Given the description of an element on the screen output the (x, y) to click on. 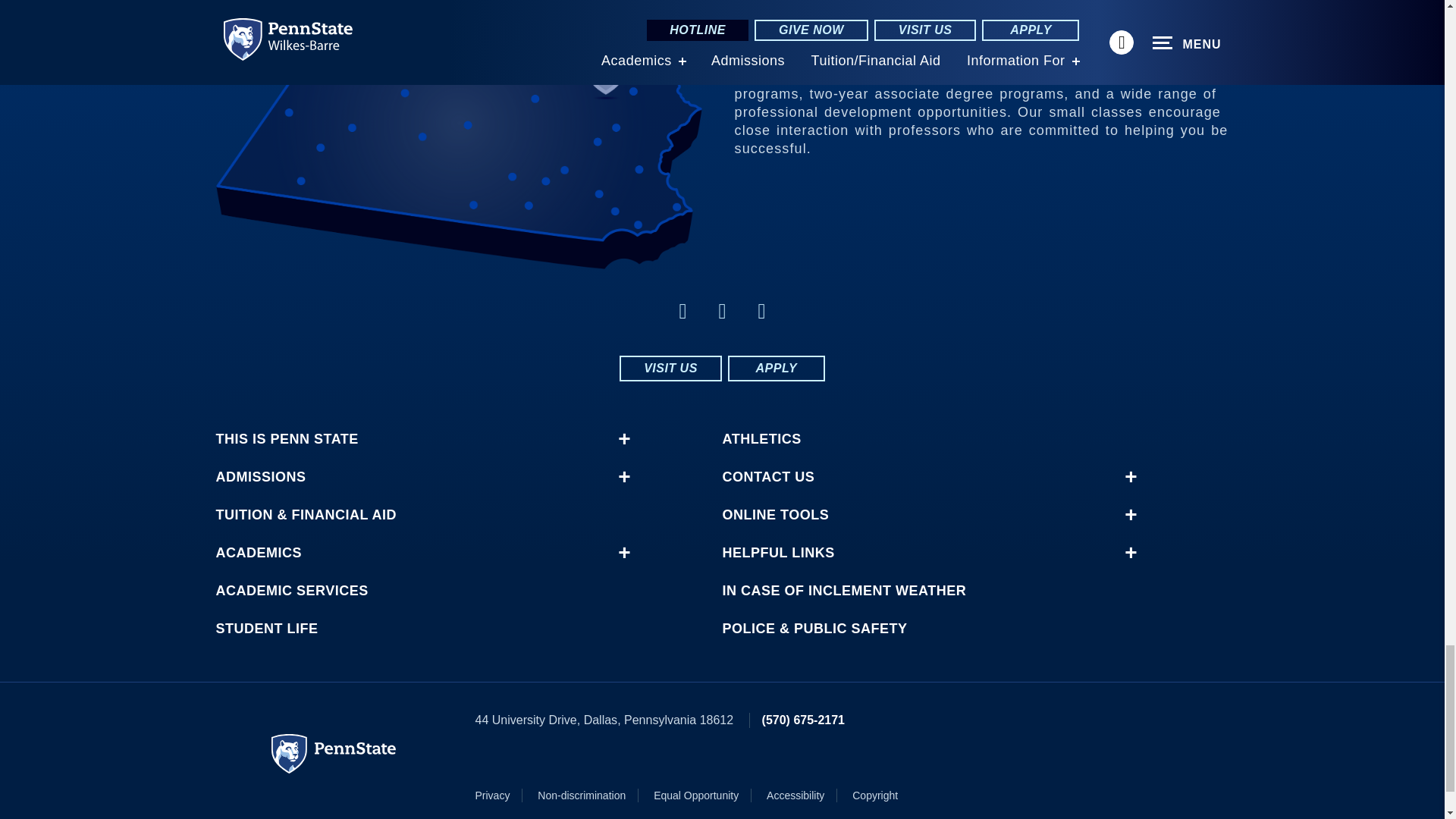
facebook (721, 310)
Penn State University (333, 753)
instagram (682, 310)
youtube (761, 310)
